Given the description of an element on the screen output the (x, y) to click on. 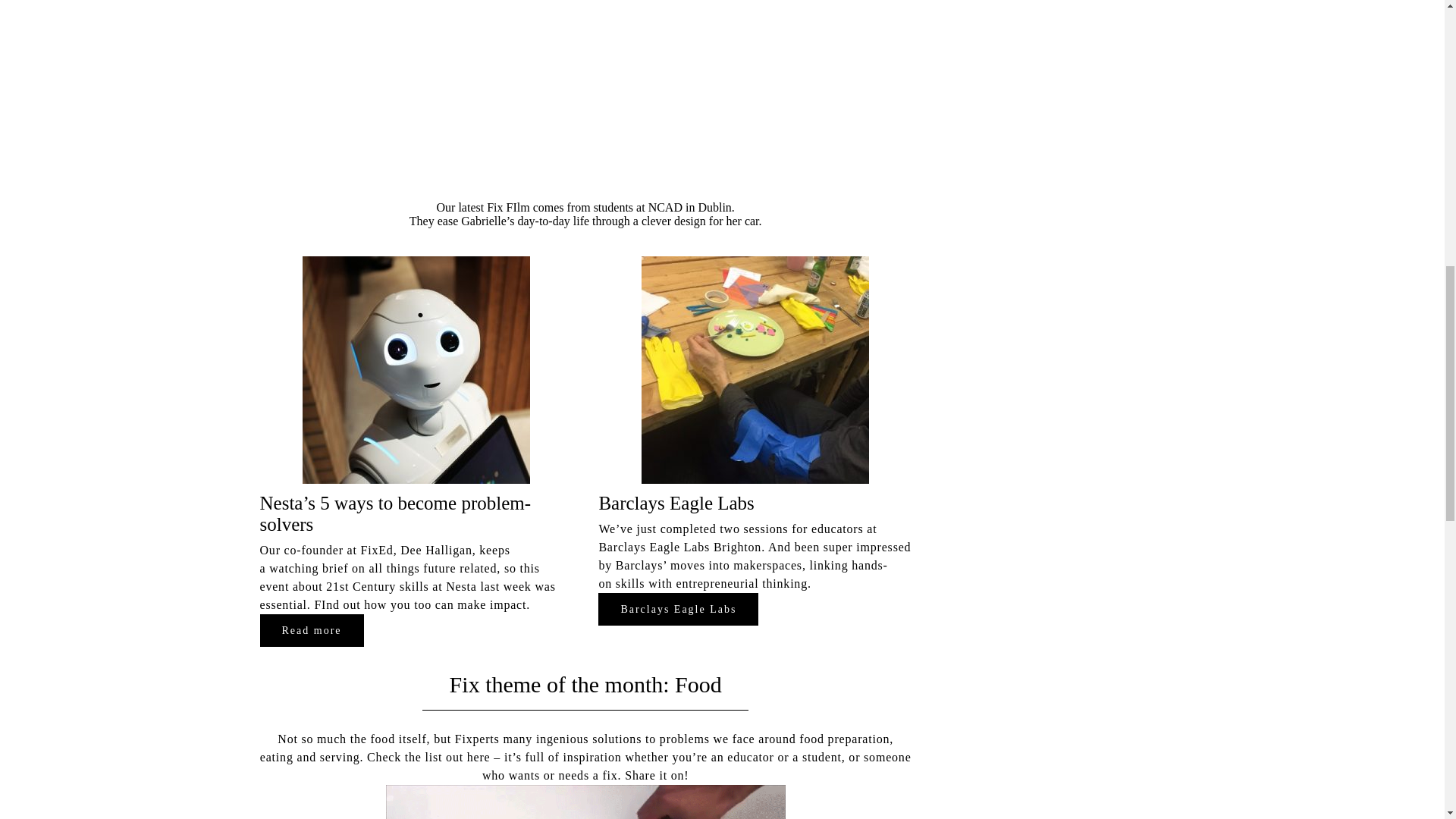
YouTube video player 1 (585, 324)
Read more (310, 630)
Barclays Eagle Labs (678, 608)
barcalys (755, 370)
here (478, 757)
robot (415, 370)
fixfoodgif (585, 801)
this event  (398, 576)
NCAD (664, 206)
Fix FIlm (507, 206)
